Given the description of an element on the screen output the (x, y) to click on. 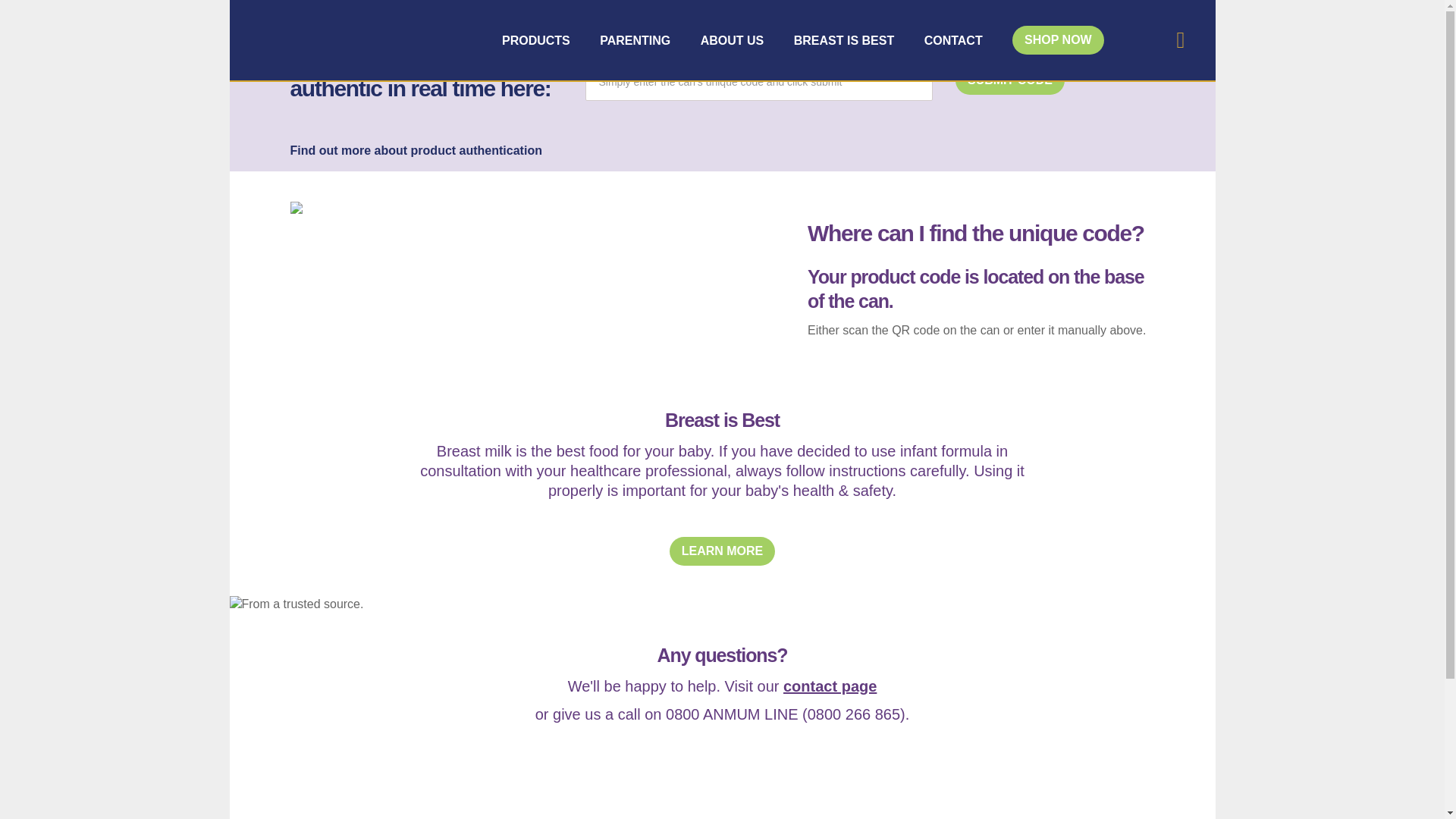
CONTACT (953, 40)
PRODUCTS (536, 40)
contact page (829, 686)
Parenting (634, 40)
Contact (953, 40)
BREAST IS BEST (843, 40)
Submit Code (1009, 80)
Products (536, 40)
Anmum (380, 40)
Anmum (380, 40)
